Given the description of an element on the screen output the (x, y) to click on. 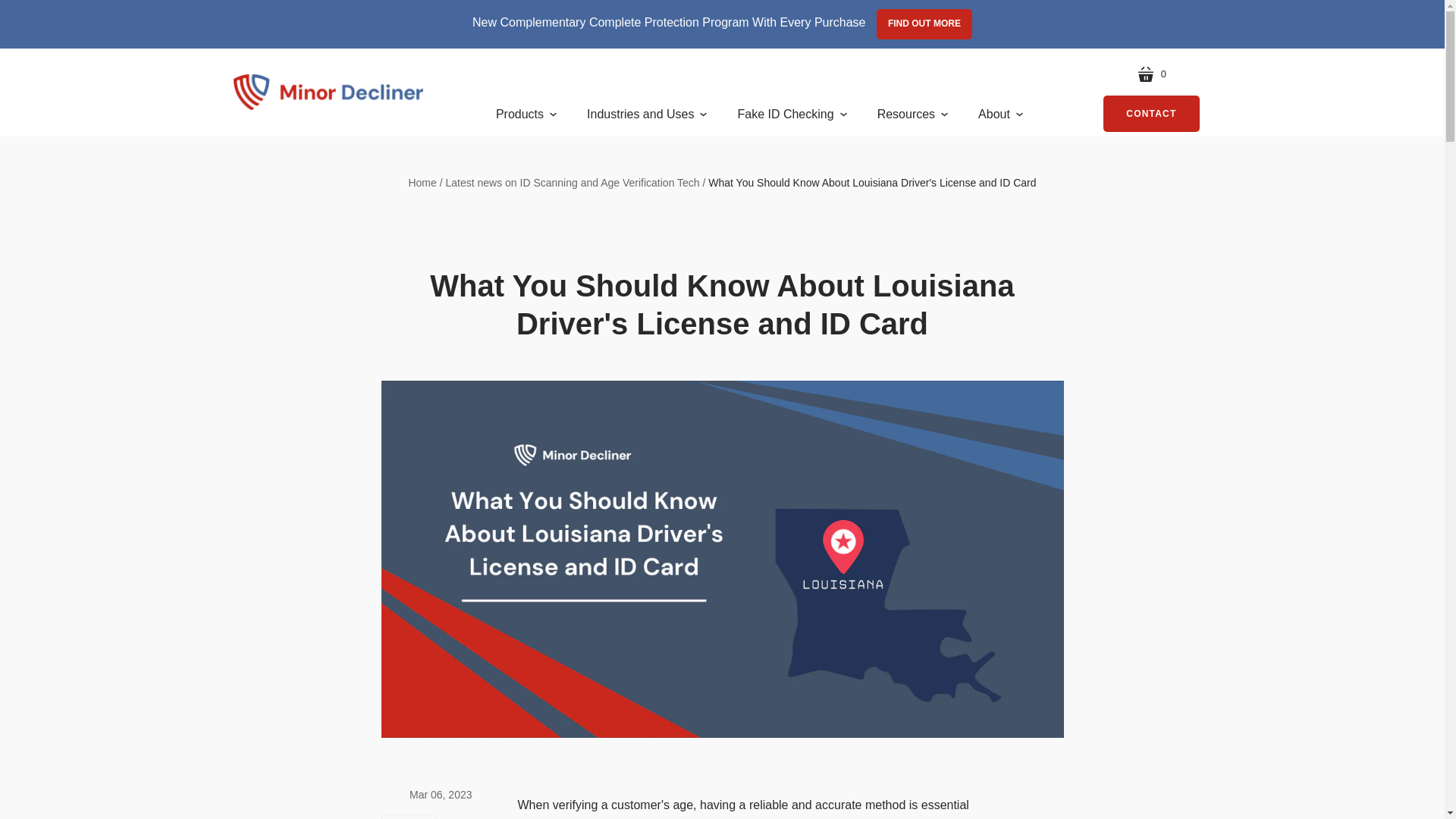
CONTACT (1150, 113)
